Given the description of an element on the screen output the (x, y) to click on. 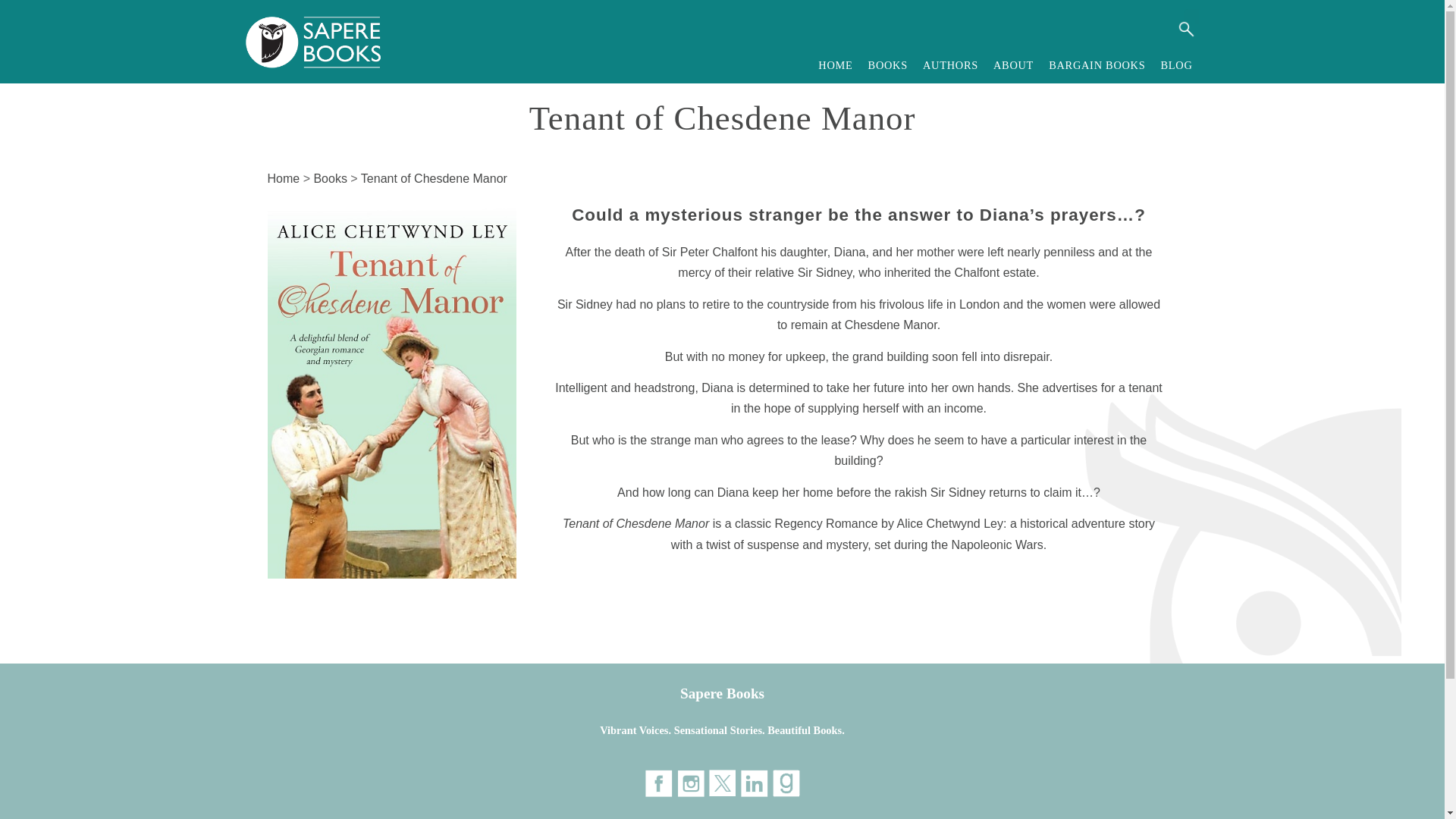
Home (282, 178)
Search (1184, 28)
ABOUT (1013, 65)
BOOKS (887, 65)
Books (329, 178)
Tenant of Chesdene Manor (433, 178)
BLOG (1176, 65)
Search (1184, 28)
AUTHORS (950, 65)
HOME (835, 65)
BARGAIN BOOKS (1097, 65)
